Given the description of an element on the screen output the (x, y) to click on. 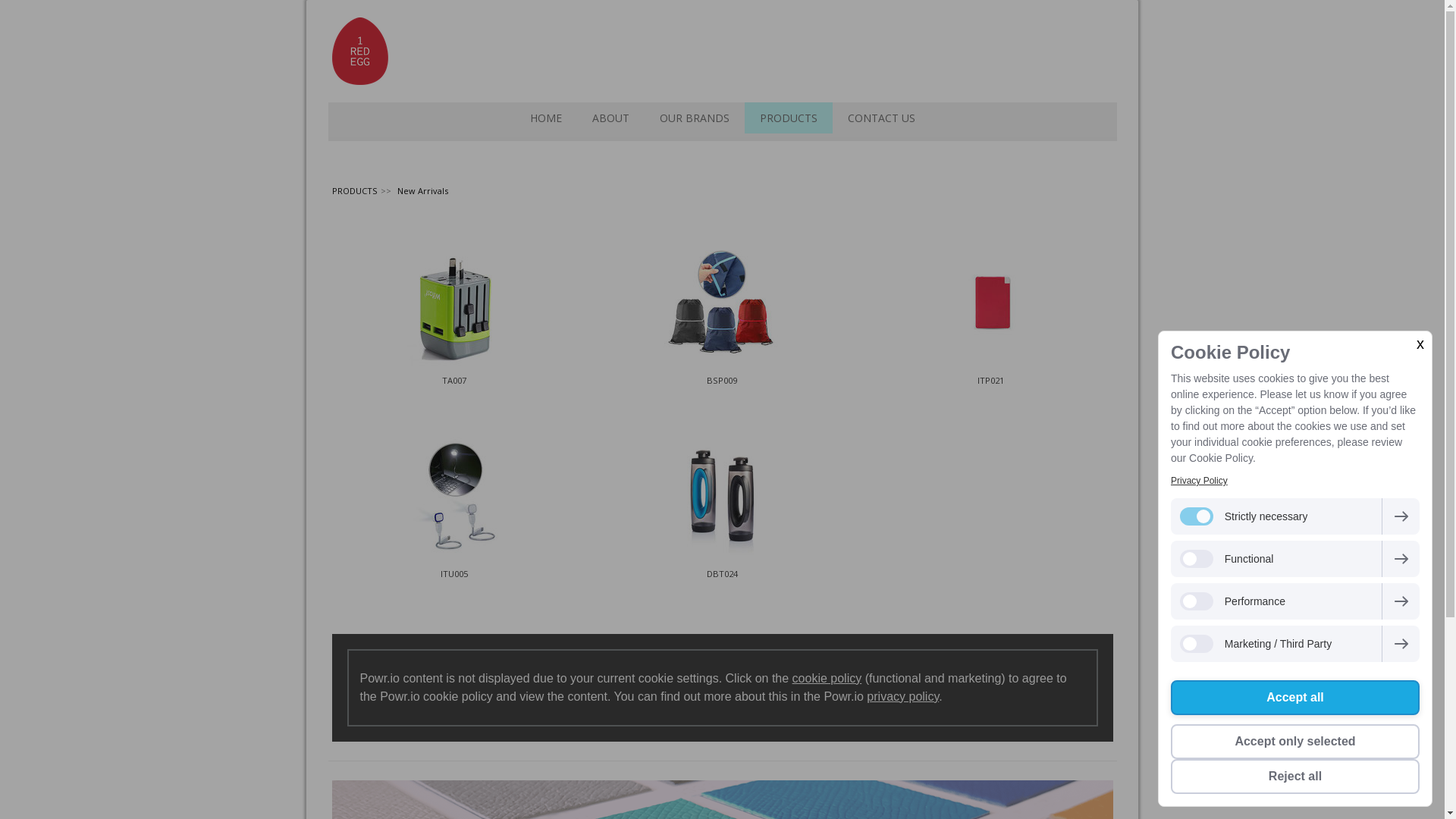
privacy policy Element type: text (902, 696)
Accept only selected Element type: text (1294, 741)
ABOUT Element type: text (609, 117)
cookie policy Element type: text (827, 677)
HOME Element type: text (545, 117)
PRODUCTS Element type: text (353, 190)
OUR BRANDS Element type: text (694, 117)
PRODUCTS Element type: text (788, 117)
Reject all Element type: text (1294, 776)
Accept all Element type: text (1294, 697)
Privacy Policy Element type: text (1198, 480)
CONTACT US Element type: text (881, 117)
New Arrivals Element type: text (421, 190)
